Given the description of an element on the screen output the (x, y) to click on. 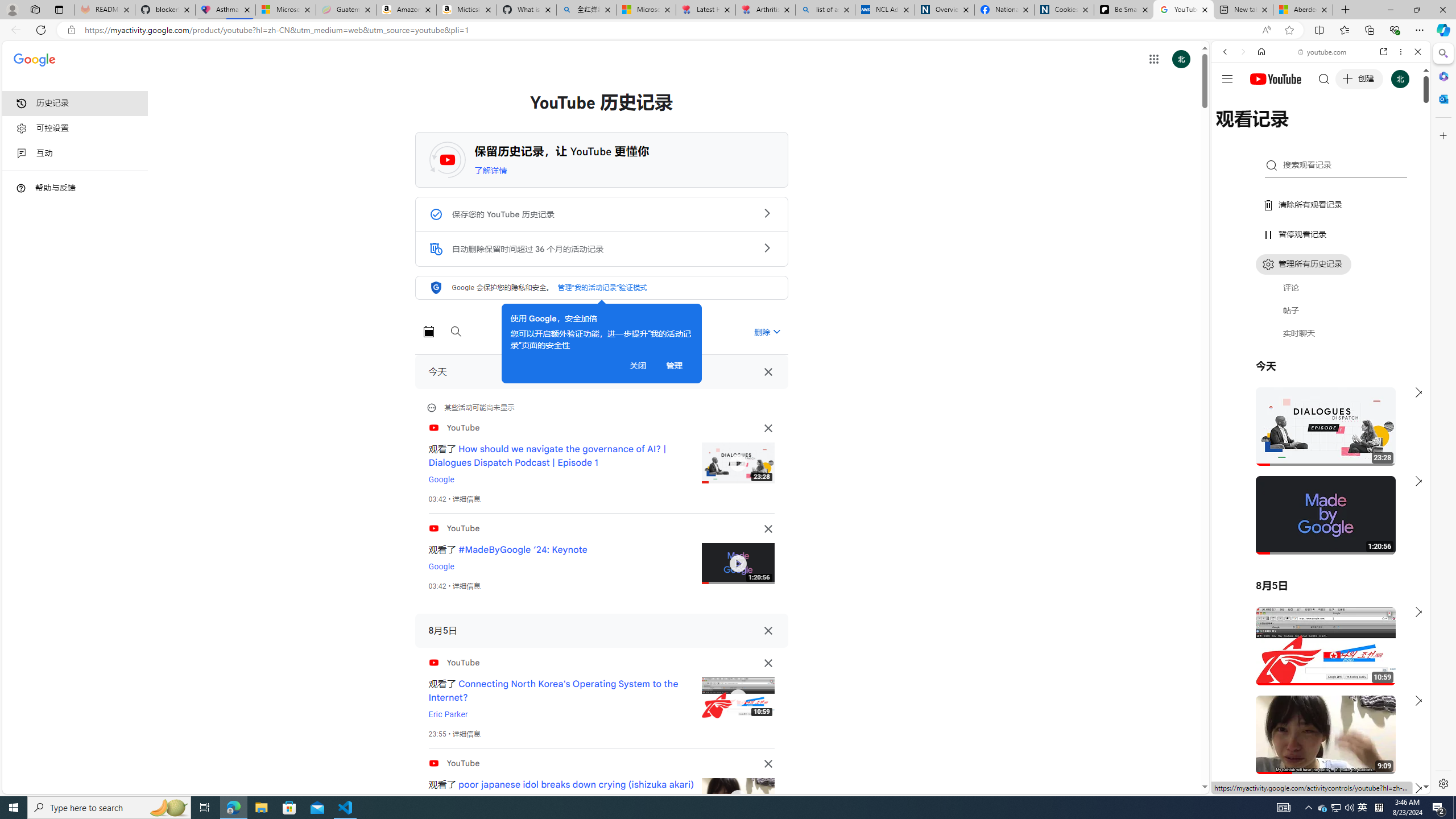
Eric Parker (447, 714)
YouTube (1315, 655)
poor japanese idol breaks down crying (ishizuka akari) (576, 784)
